Given the description of an element on the screen output the (x, y) to click on. 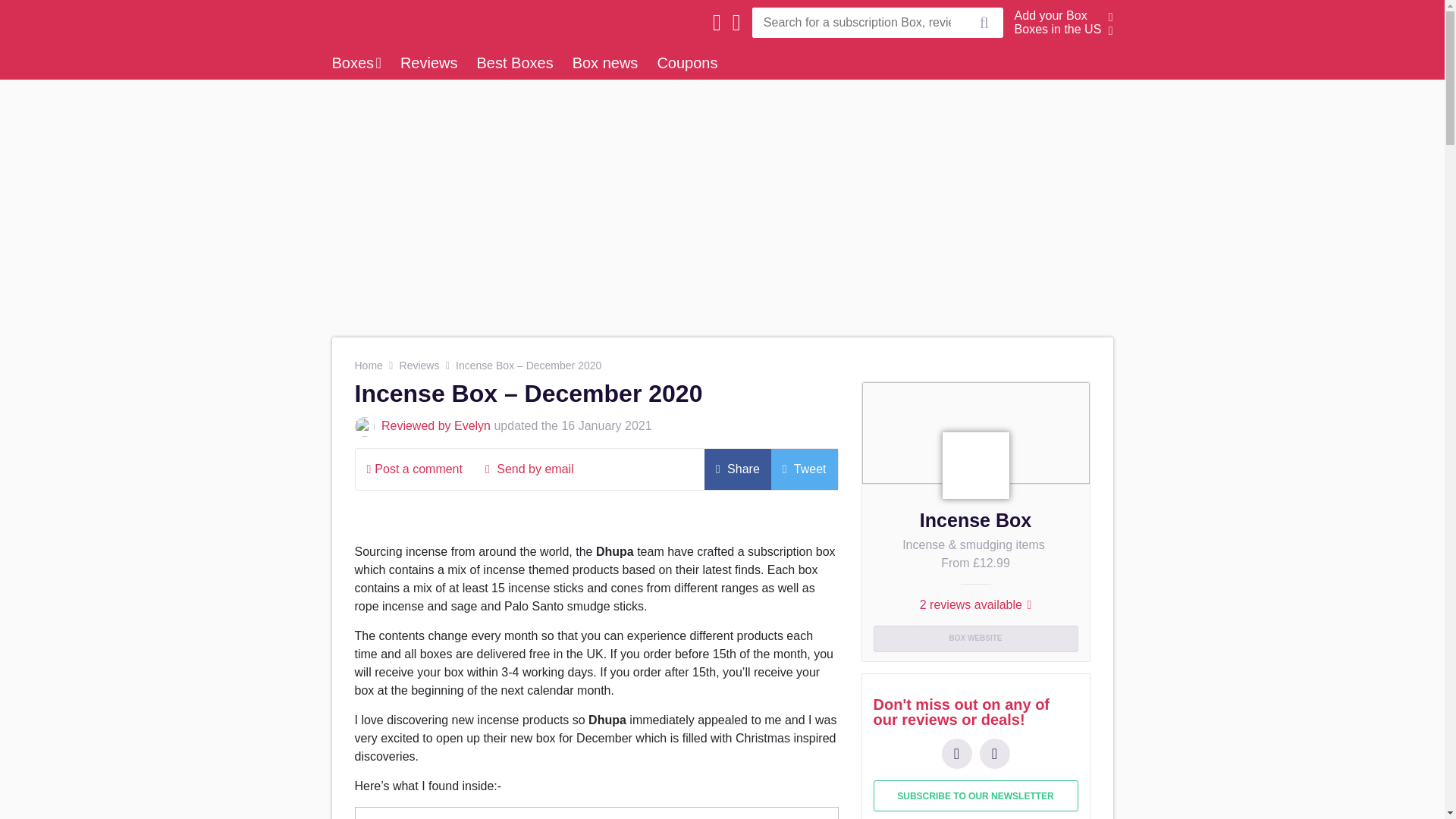
All Subscription Boxes UK (437, 9)
Boxes (356, 62)
Add your Box (1050, 15)
Boxes in the US (1058, 29)
Search for: (858, 22)
